Given the description of an element on the screen output the (x, y) to click on. 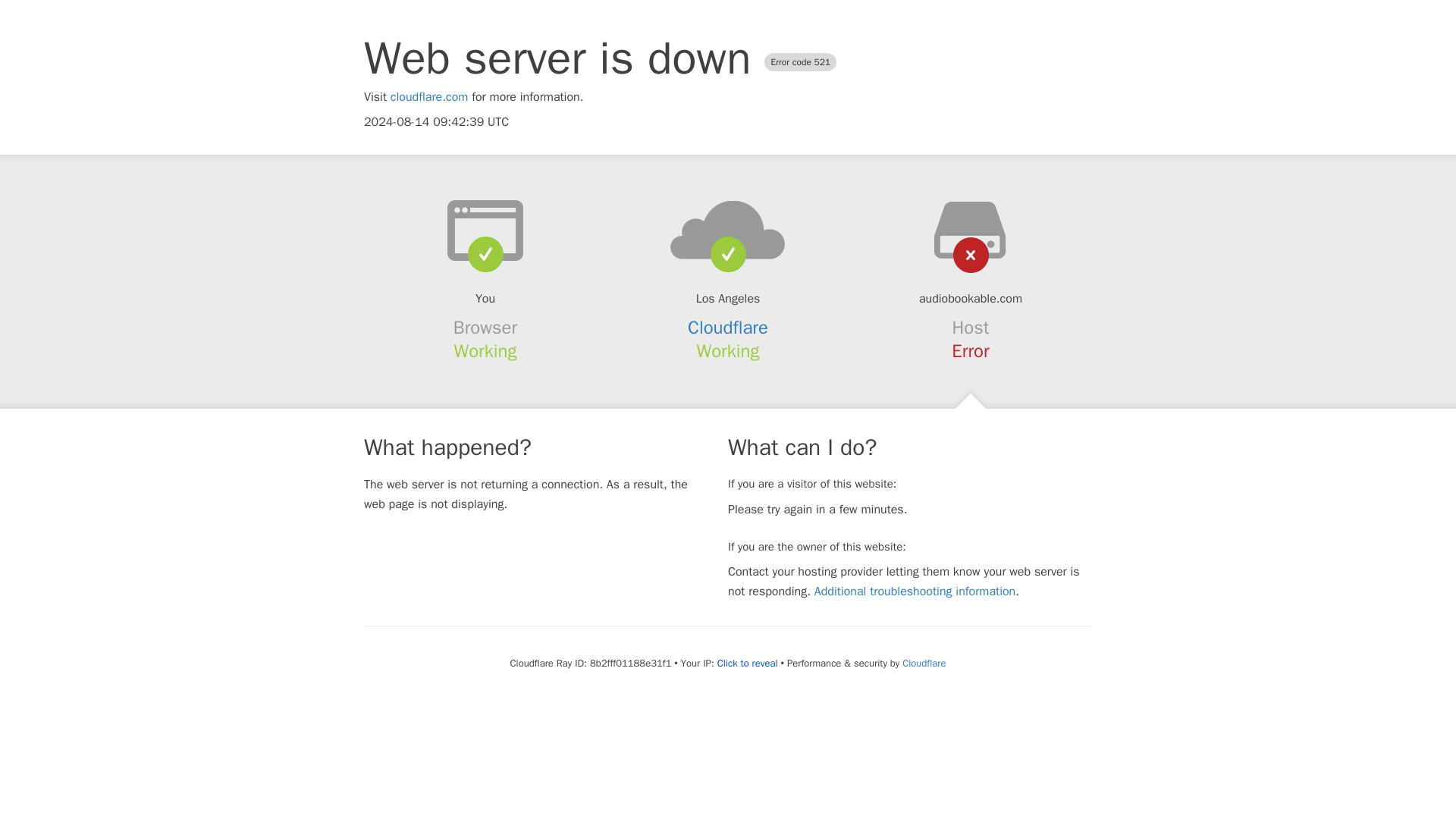
cloudflare.com (429, 96)
Cloudflare (923, 662)
Click to reveal (747, 663)
Additional troubleshooting information (913, 590)
Cloudflare (727, 327)
